Given the description of an element on the screen output the (x, y) to click on. 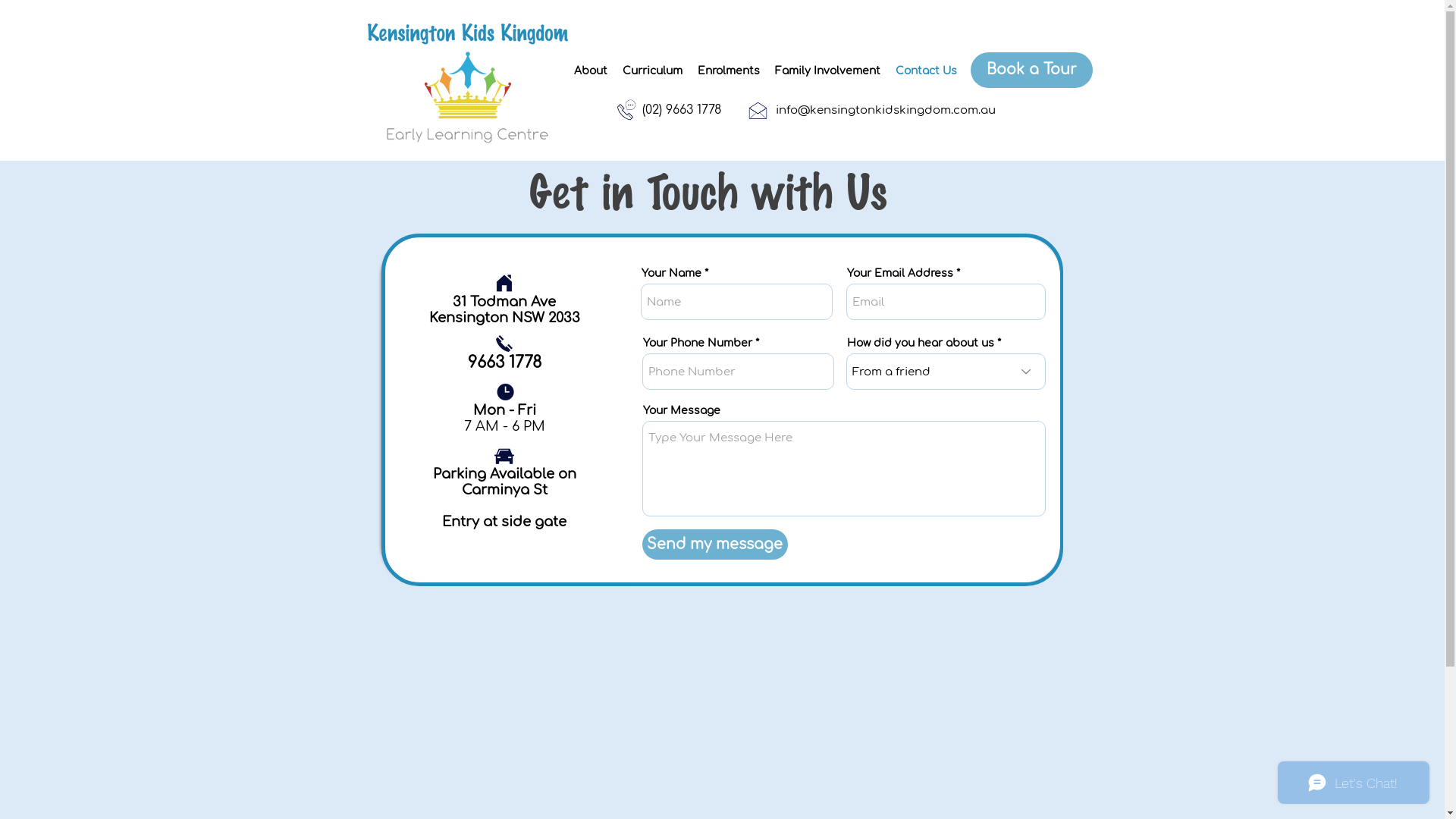
Book a Tour Element type: text (1031, 69)
Contact Us Element type: text (925, 70)
(02) 9663 1778 Element type: text (681, 109)
Enrolments Element type: text (728, 70)
Family Involvement Element type: text (827, 70)
Curriculum Element type: text (651, 70)
About Element type: text (589, 70)
Send my message Element type: text (714, 544)
info@kensingtonkidskingdom.com.au Element type: text (885, 109)
